Given the description of an element on the screen output the (x, y) to click on. 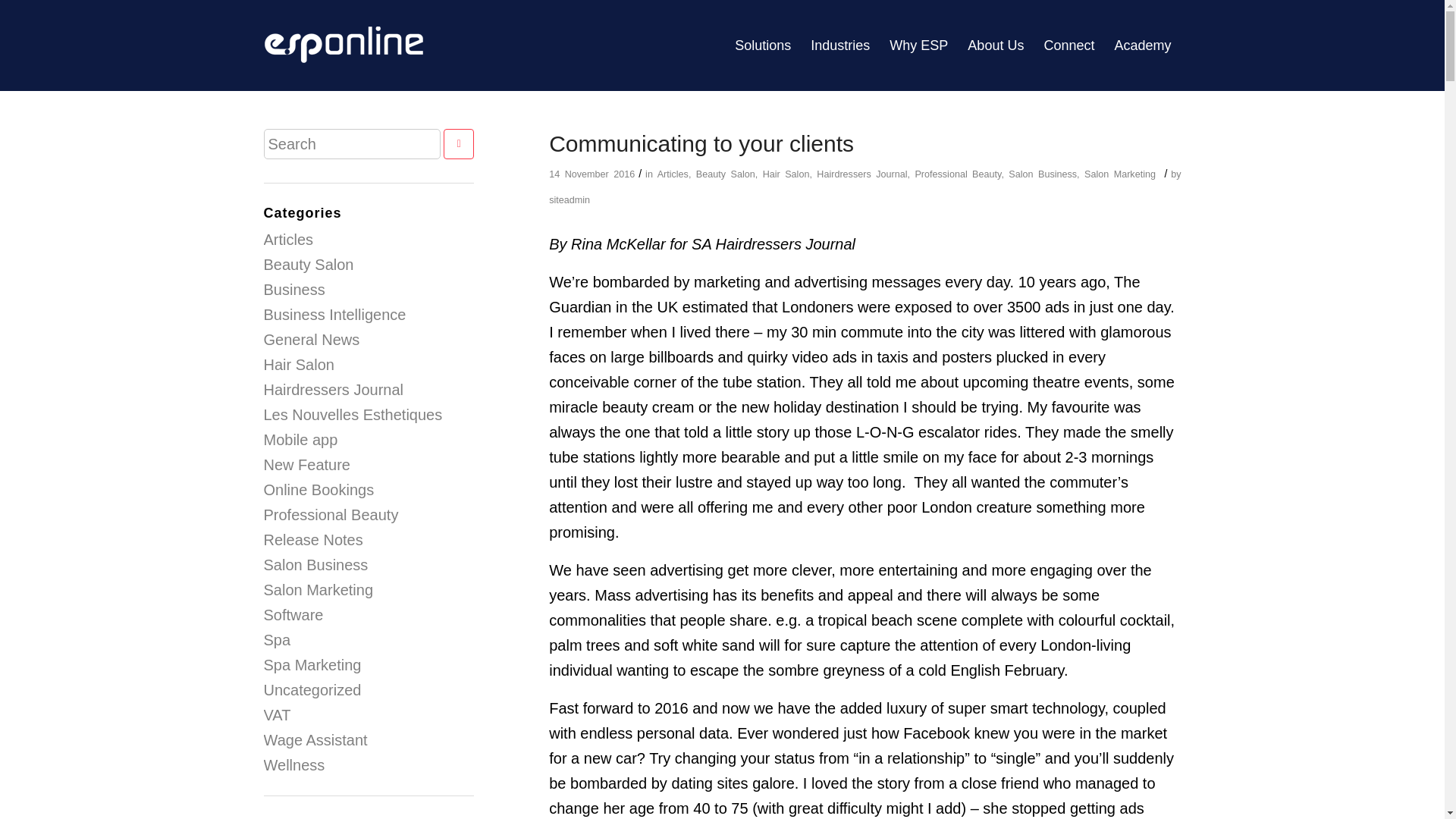
Solutions (762, 45)
Beauty Salon (725, 173)
siteadmin (568, 199)
Industries (839, 45)
Professional Beauty (957, 173)
Hair Salon (785, 173)
Why ESP (918, 45)
Hairdressers Journal (861, 173)
Permanent Link: Communicating to your clients (700, 143)
About Us (995, 45)
Salon Marketing (1120, 173)
Articles (673, 173)
Posts by siteadmin (568, 199)
Communicating to your clients (700, 143)
Salon Business (1043, 173)
